Given the description of an element on the screen output the (x, y) to click on. 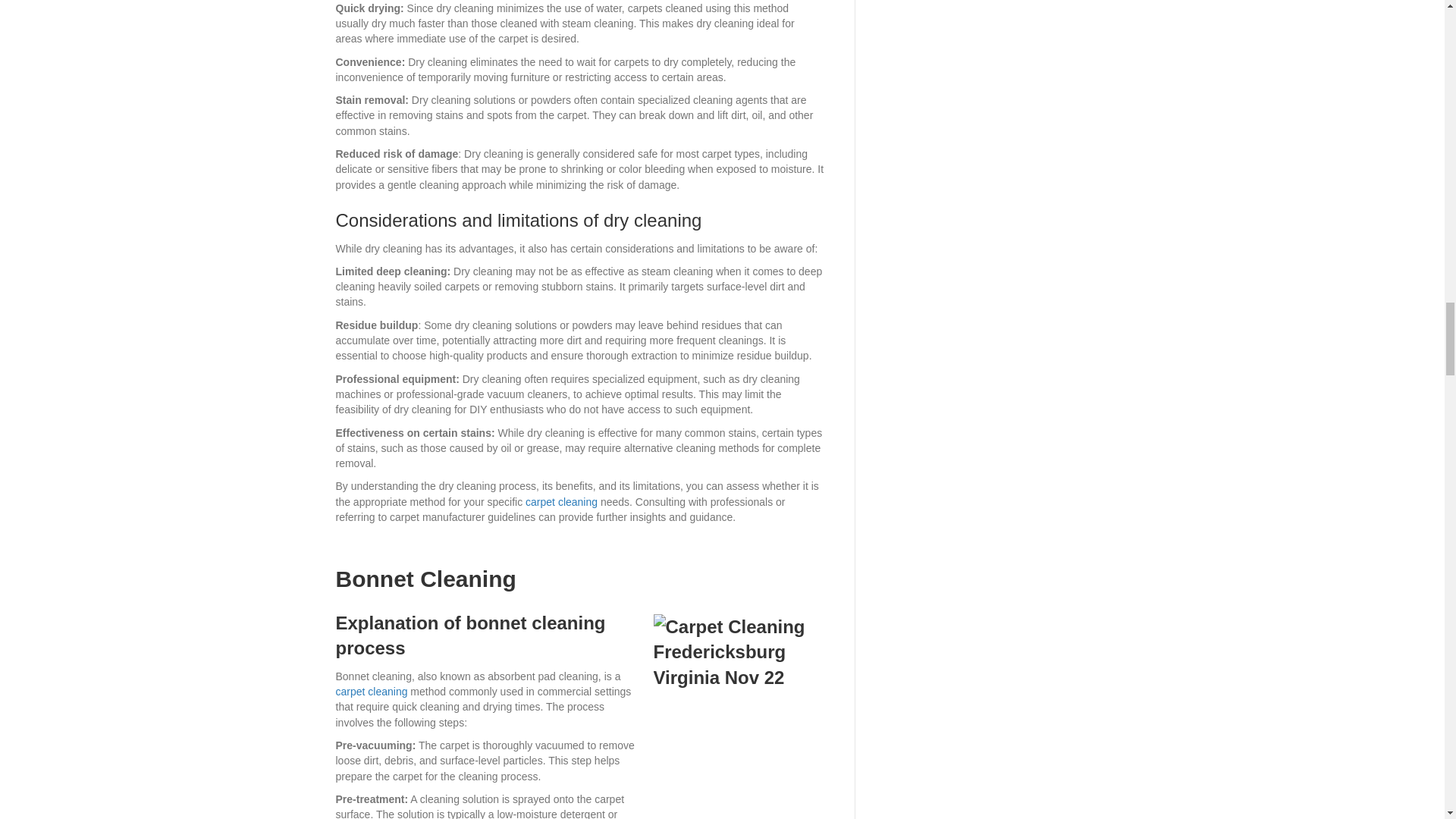
The Benefits Of Professional Carpet Cleaning (560, 501)
